Given the description of an element on the screen output the (x, y) to click on. 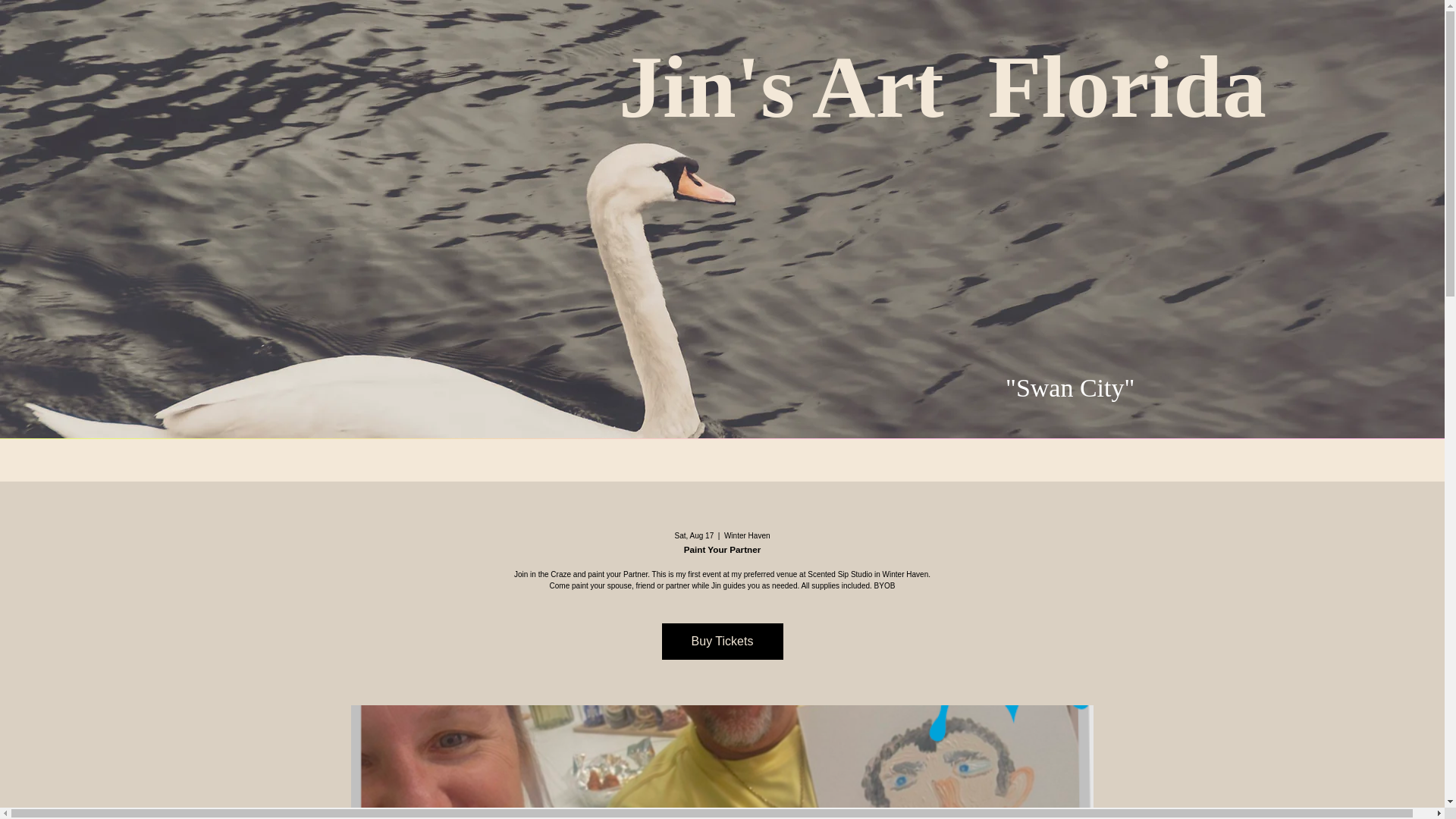
Buy Tickets (722, 641)
